Given the description of an element on the screen output the (x, y) to click on. 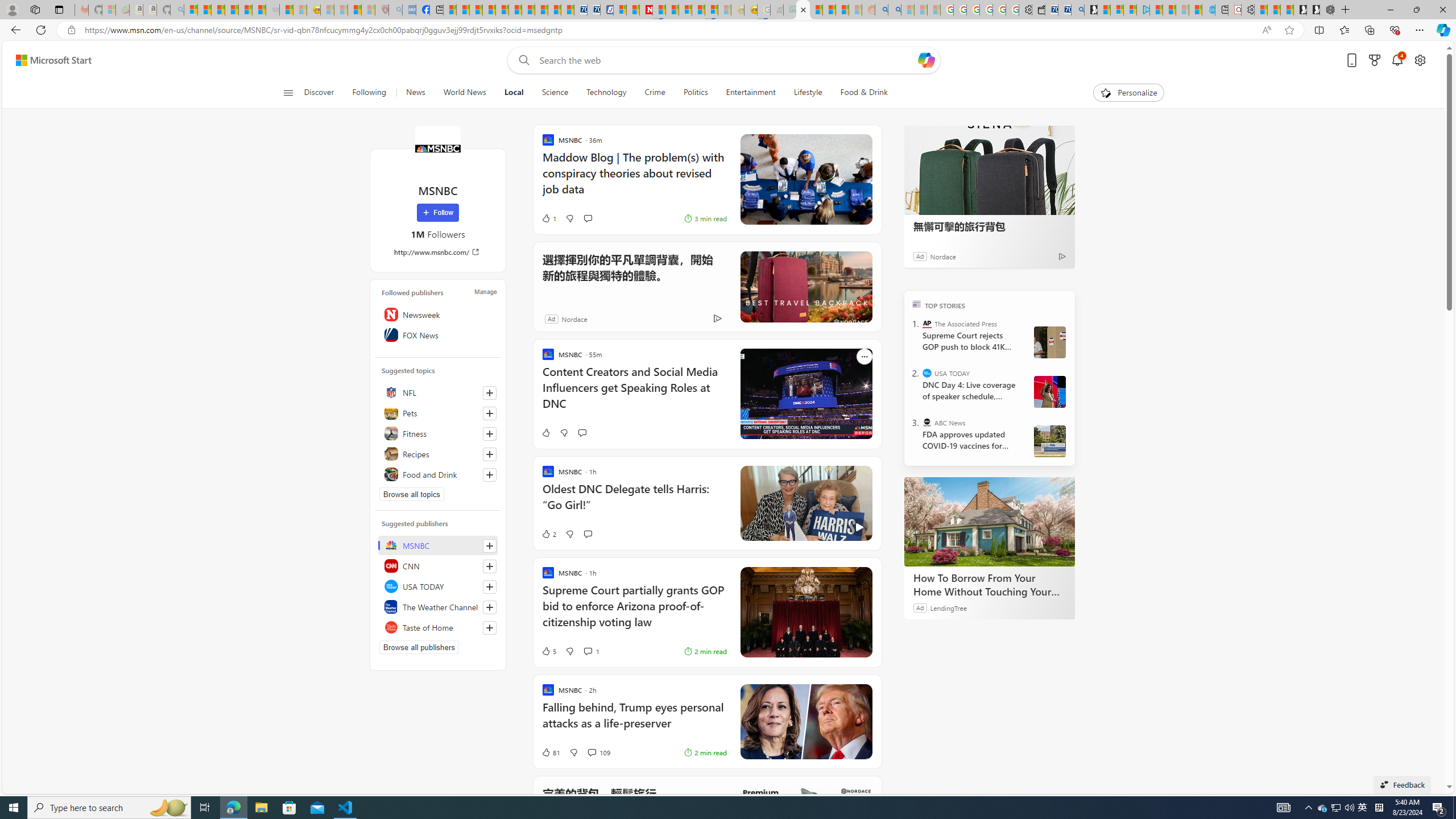
Climate Damage Becomes Too Severe To Reverse (488, 9)
12 Popular Science Lies that Must be Corrected - Sleeping (368, 9)
Pets (437, 412)
Student Loan Update: Forgiveness Program Ends This Month (842, 9)
ABC News (927, 422)
